Given the description of an element on the screen output the (x, y) to click on. 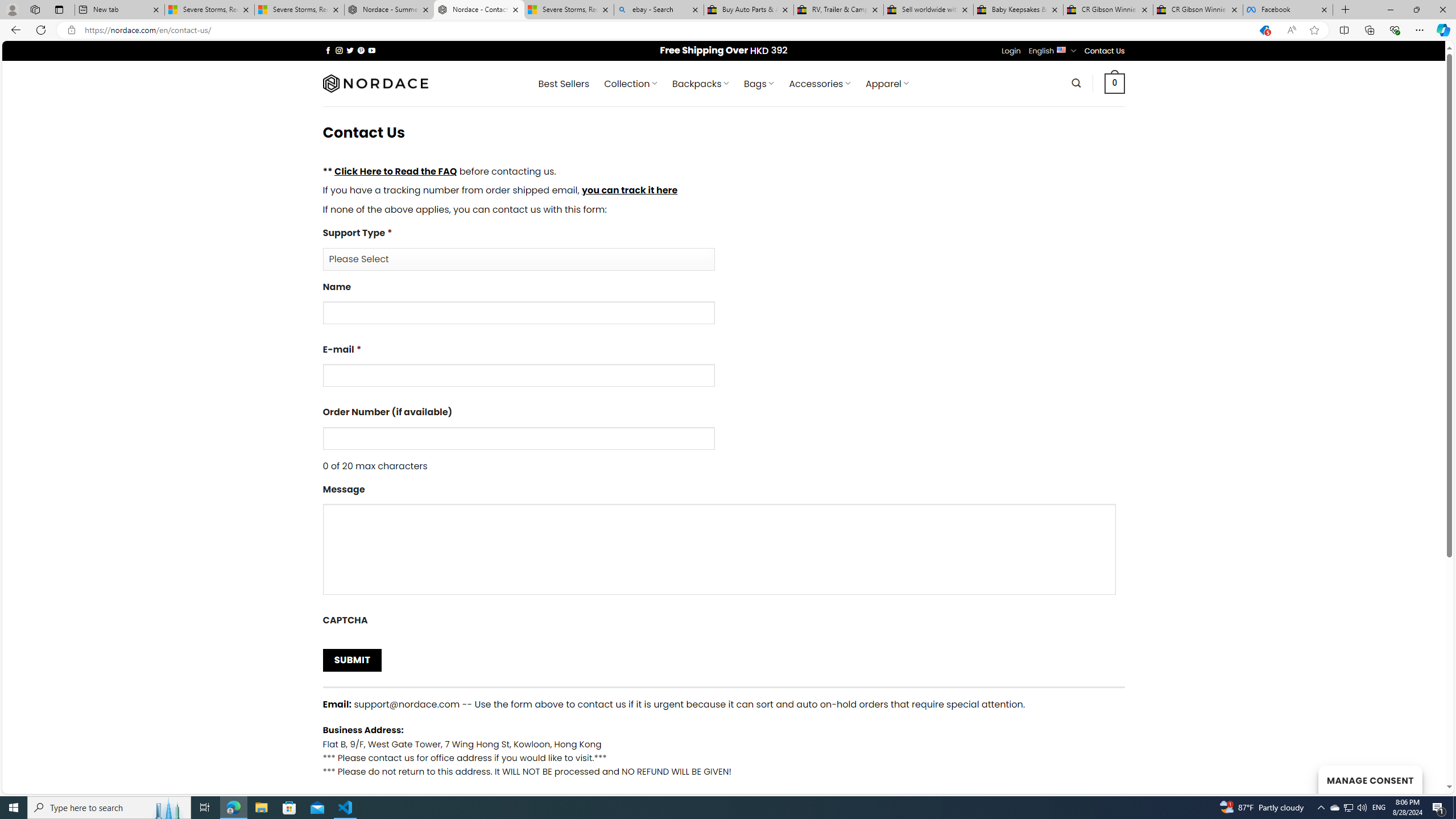
  Best Sellers (563, 83)
Follow on Instagram (338, 49)
  0   (1115, 83)
Submit (351, 659)
Order Number (if available)0 of 20 max characters (723, 438)
E-mail* (517, 375)
This site has coupons! Shopping in Microsoft Edge, 5 (1263, 29)
MANAGE CONSENT (1369, 779)
